Given the description of an element on the screen output the (x, y) to click on. 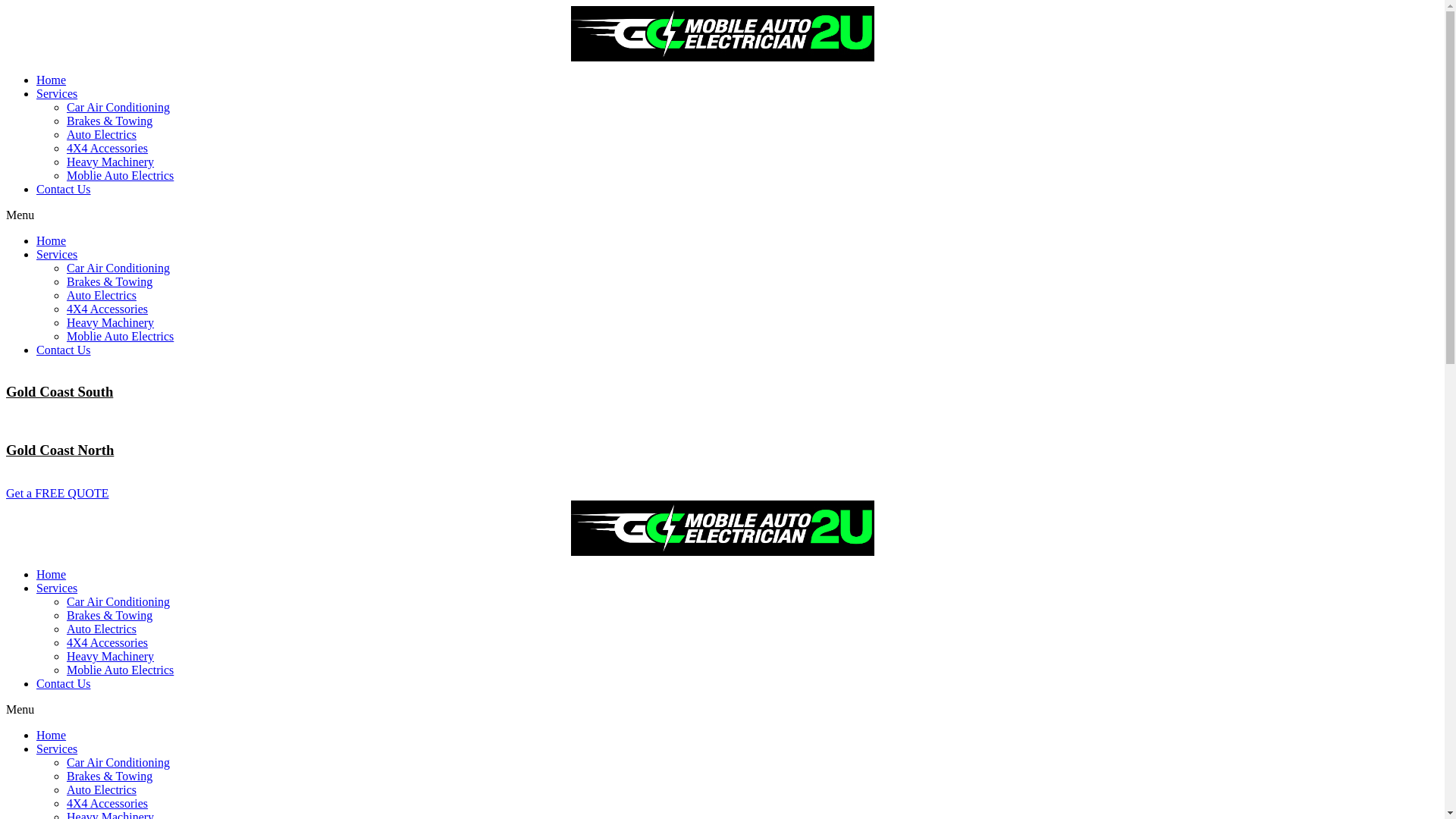
Get a FREE QUOTE Element type: text (57, 492)
Auto Electrics Element type: text (101, 134)
Home Element type: text (50, 573)
4X4 Accessories Element type: text (106, 308)
Contact Us Element type: text (63, 683)
Auto Electrics Element type: text (101, 628)
Home Element type: text (50, 79)
Brakes & Towing Element type: text (109, 614)
4X4 Accessories Element type: text (106, 803)
Car Air Conditioning Element type: text (117, 267)
Auto Electrics Element type: text (101, 789)
Brakes & Towing Element type: text (109, 281)
Contact Us Element type: text (63, 188)
0414 790 416 Element type: text (39, 479)
Auto Electrics Element type: text (101, 294)
Services Element type: text (56, 253)
Heavy Machinery Element type: text (109, 655)
Car Air Conditioning Element type: text (117, 601)
Gold Coast South Element type: text (59, 391)
Home Element type: text (50, 734)
4X4 Accessories Element type: text (106, 642)
Brakes & Towing Element type: text (109, 120)
Services Element type: text (56, 748)
Car Air Conditioning Element type: text (117, 106)
Brakes & Towing Element type: text (109, 775)
Moblie Auto Electrics Element type: text (119, 335)
Heavy Machinery Element type: text (109, 322)
Moblie Auto Electrics Element type: text (119, 669)
4X4 Accessories Element type: text (106, 147)
Heavy Machinery Element type: text (109, 161)
Gold Coast North Element type: text (59, 450)
Moblie Auto Electrics Element type: text (119, 175)
Contact Us Element type: text (63, 349)
Services Element type: text (56, 587)
Services Element type: text (56, 93)
Home Element type: text (50, 240)
0414 790 414 Element type: text (39, 420)
Car Air Conditioning Element type: text (117, 762)
